Given the description of an element on the screen output the (x, y) to click on. 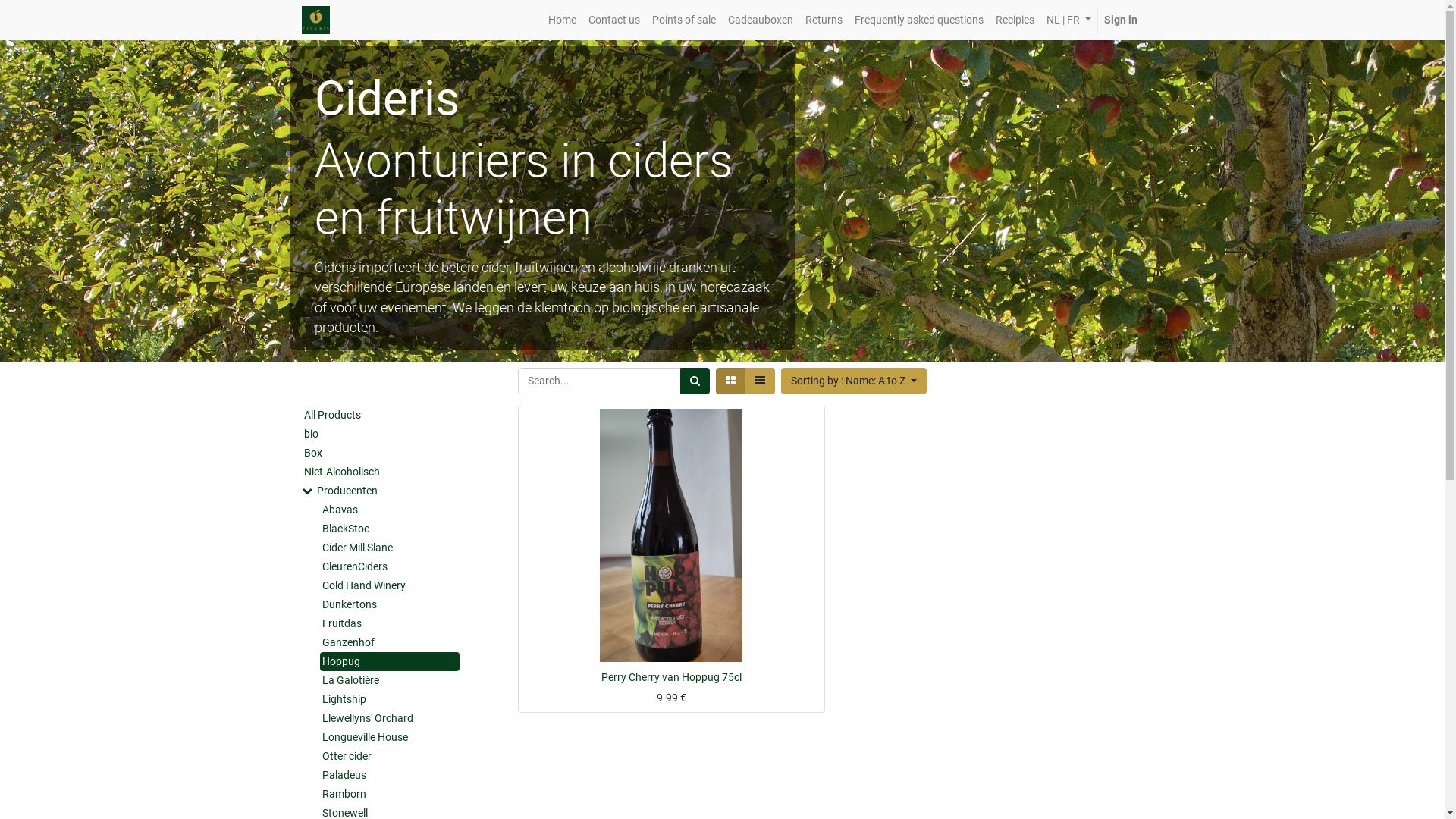
Unfold Element type: hover (306, 490)
Perry Cherry van Hoppug 75cl Element type: text (670, 677)
Frequently asked questions Element type: text (918, 20)
Lightship Element type: text (390, 699)
Box Element type: text (378, 452)
Producenten Element type: text (390, 490)
Returns Element type: text (823, 20)
Points of sale Element type: text (683, 20)
Longueville House Element type: text (390, 737)
Dunkertons Element type: text (390, 604)
Cadeauboxen Element type: text (760, 20)
Cold Hand Winery Element type: text (390, 585)
Paladeus Element type: text (390, 774)
Fruitdas Element type: text (390, 623)
Sorting by : Name: A to Z Element type: text (853, 380)
BlackStoc Element type: text (390, 528)
Hoppug Element type: text (390, 661)
Otter cider Element type: text (390, 755)
Recipies Element type: text (1014, 20)
Ramborn Element type: text (390, 793)
Grid Element type: hover (730, 380)
Ganzenhof Element type: text (390, 642)
Search Element type: hover (694, 380)
Niet-Alcoholisch Element type: text (378, 471)
Contact us Element type: text (614, 20)
bio Element type: text (378, 433)
Llewellyns' Orchard Element type: text (390, 718)
List Element type: hover (759, 380)
Home Element type: text (562, 20)
Abavas Element type: text (390, 509)
NL | FR Element type: text (1068, 20)
All Products Element type: text (378, 414)
CleurenCiders Element type: text (390, 566)
Sign in Element type: text (1120, 20)
Cider Mill Slane Element type: text (390, 547)
Shopping cart Element type: hover (685, 662)
Cideris Element type: hover (315, 20)
